Given the description of an element on the screen output the (x, y) to click on. 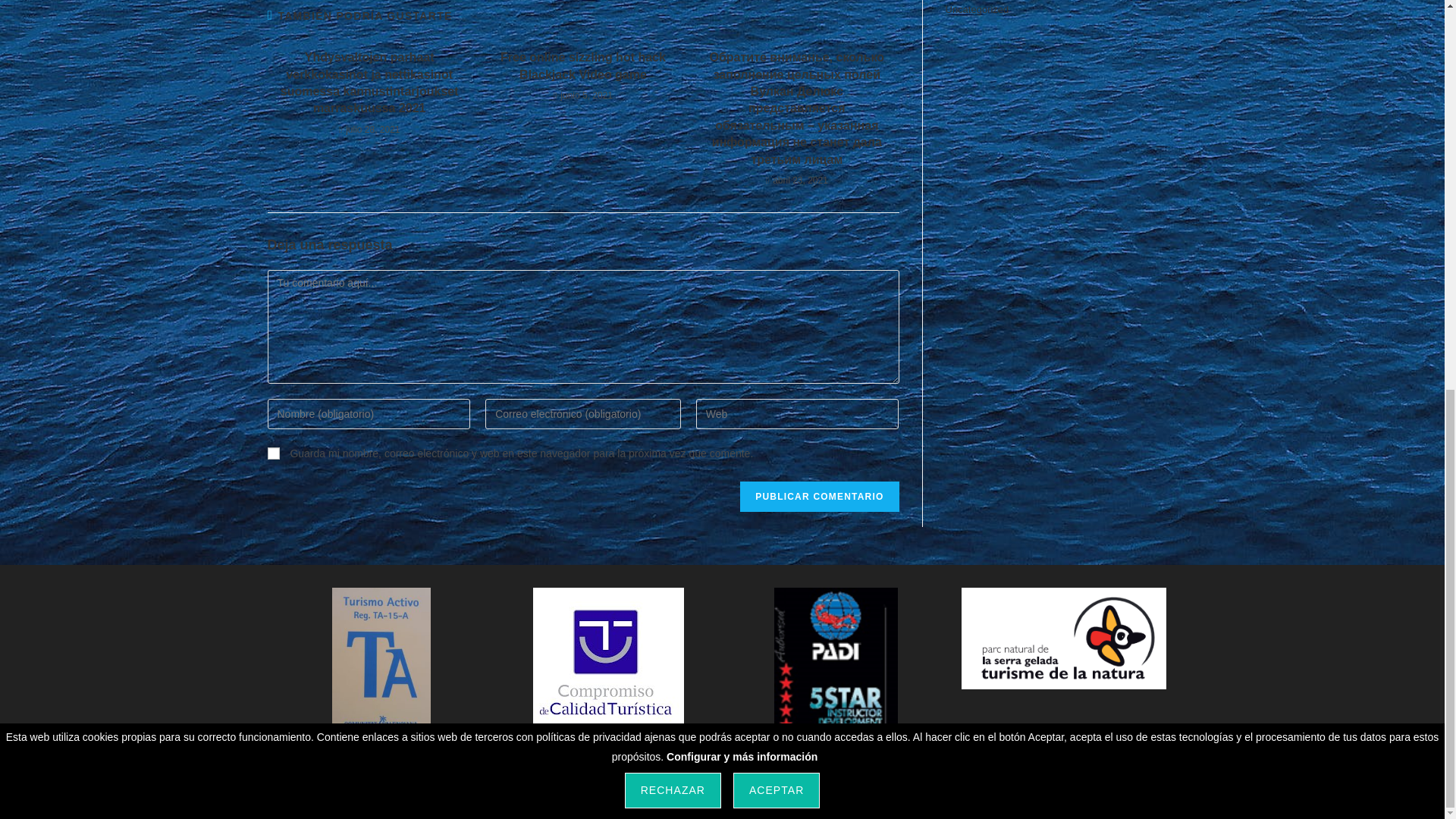
Publicar comentario (818, 496)
Publicar comentario (818, 496)
Free online sizzling hot hack Blackjack Video game (582, 66)
yes (272, 453)
